Given the description of an element on the screen output the (x, y) to click on. 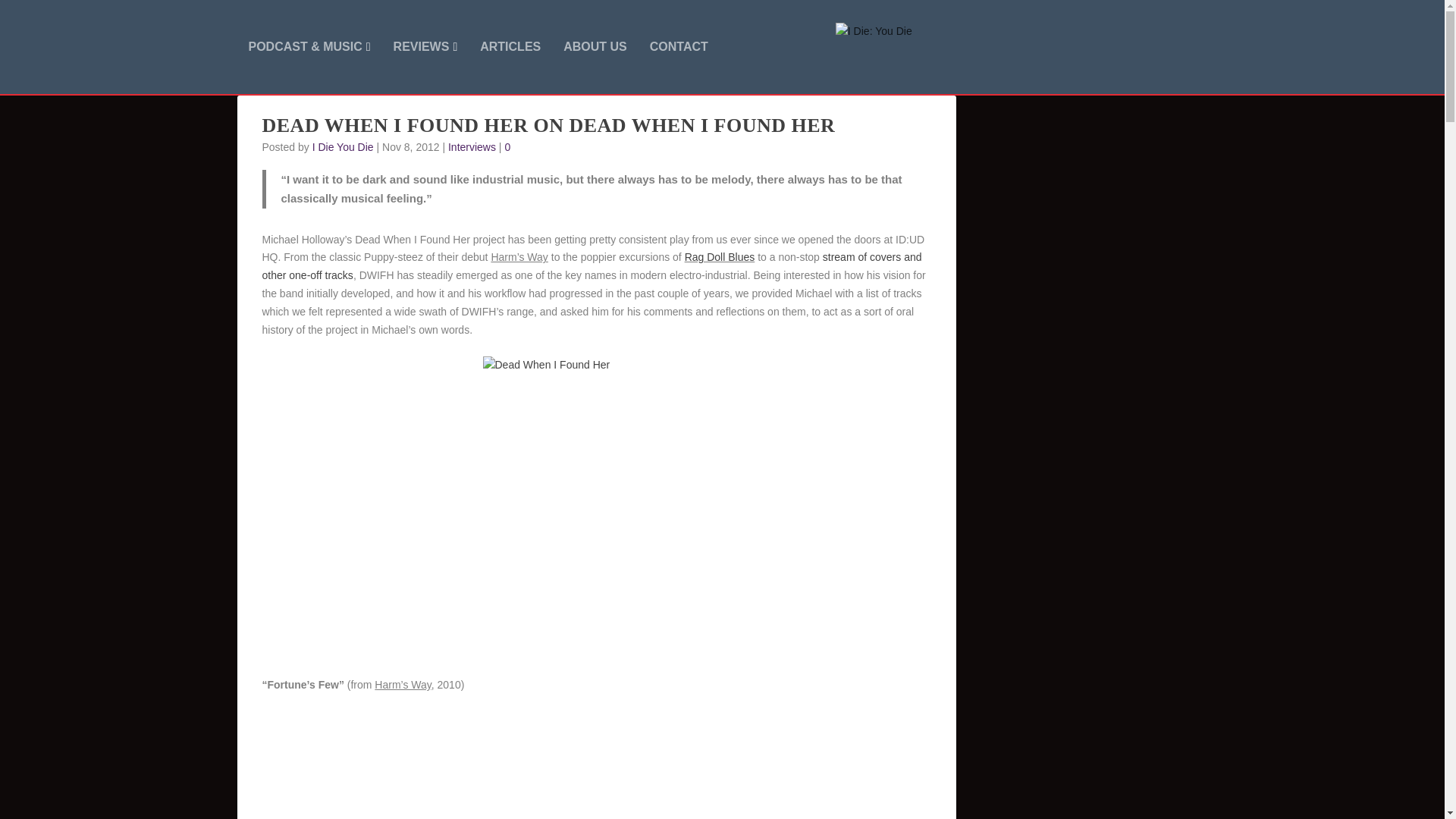
0 (509, 146)
Posts by I Die You Die (343, 146)
Interviews (472, 146)
CONTACT (678, 67)
stream of covers and other one-off tracks (591, 265)
REVIEWS (425, 67)
Rag Doll Blues (719, 256)
ARTICLES (510, 67)
ABOUT US (595, 67)
I Die You Die (343, 146)
